Given the description of an element on the screen output the (x, y) to click on. 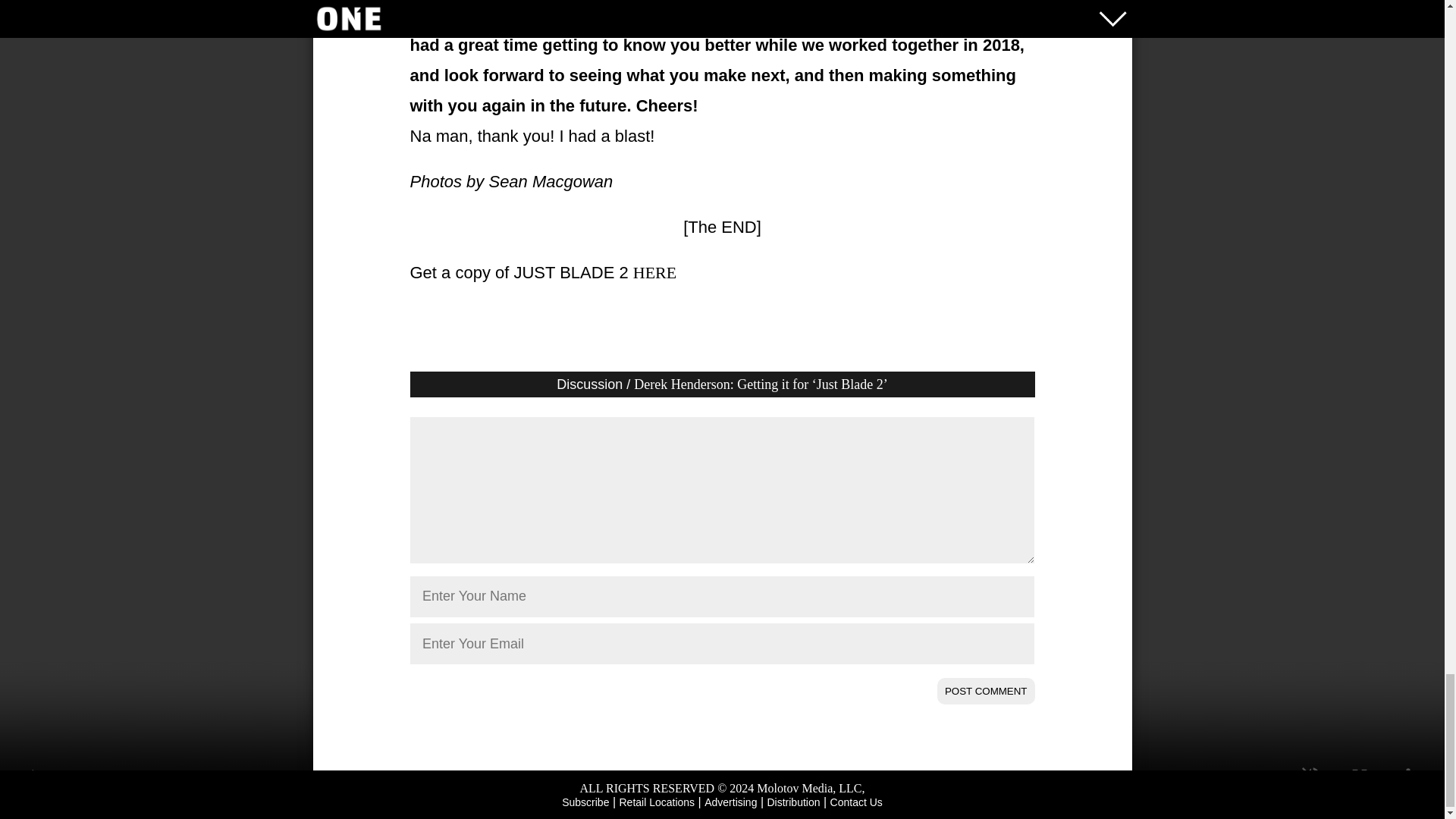
POST COMMENT (986, 691)
Advertising (730, 802)
Subscribe (585, 802)
Retail Locations (656, 802)
Distribution (793, 802)
POST COMMENT (986, 691)
HERE (655, 271)
Contact Us (855, 802)
